Given the description of an element on the screen output the (x, y) to click on. 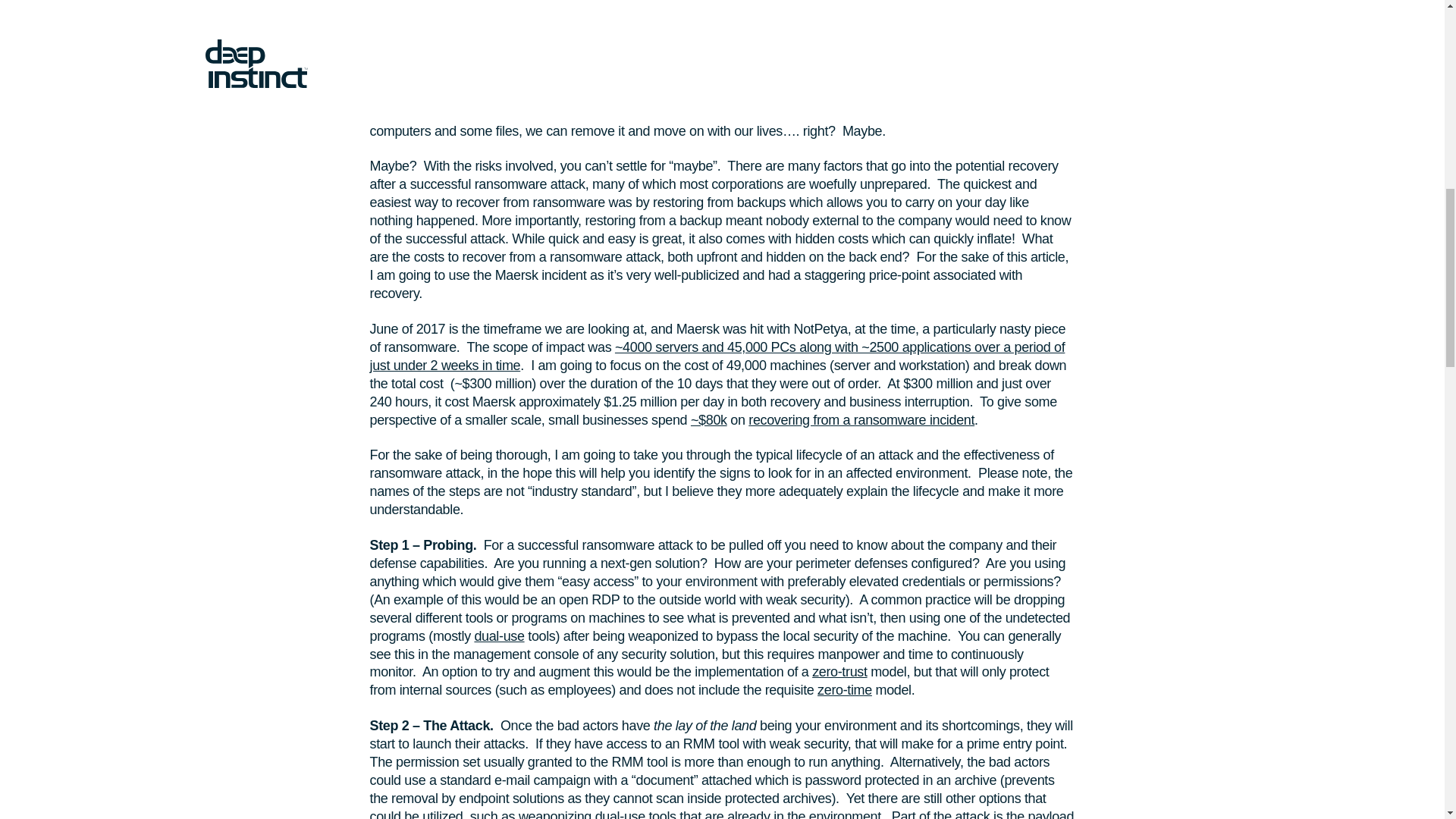
dual-use (499, 635)
dual-use (620, 814)
zero-time (844, 689)
zero-trust (839, 671)
recovering from a ransomware incident (861, 419)
